Given the description of an element on the screen output the (x, y) to click on. 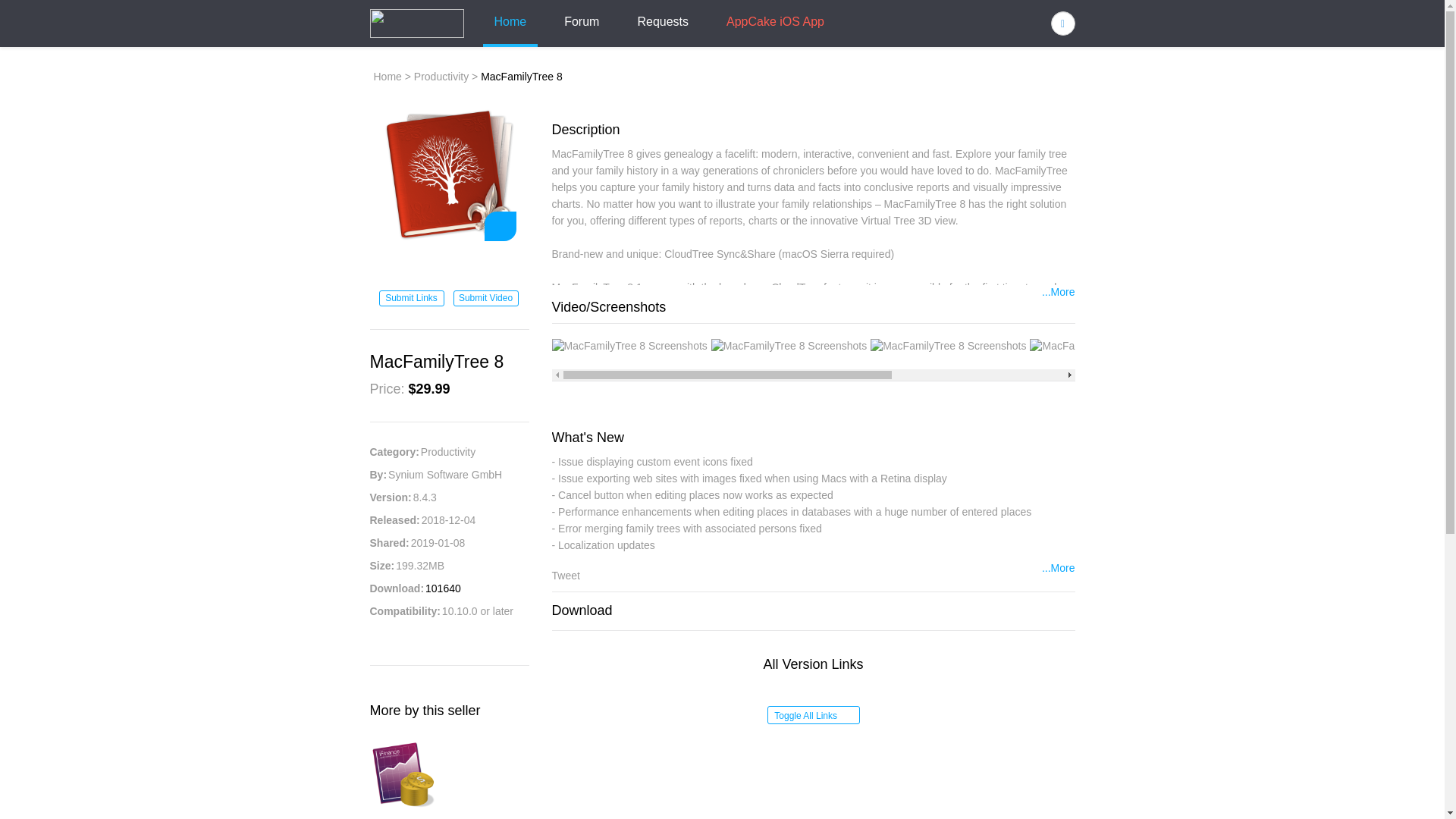
MacFamilyTree 8 Screenshots (948, 346)
Productivity (440, 76)
Home (386, 76)
MacFamilyTree 8 Screenshots (1267, 346)
MacFamilyTree 8 Icon (448, 173)
Forum (581, 23)
MacFamilyTree 8 Screenshots (1107, 346)
...More (1058, 568)
Requests (663, 23)
Submit Video (485, 298)
